Given the description of an element on the screen output the (x, y) to click on. 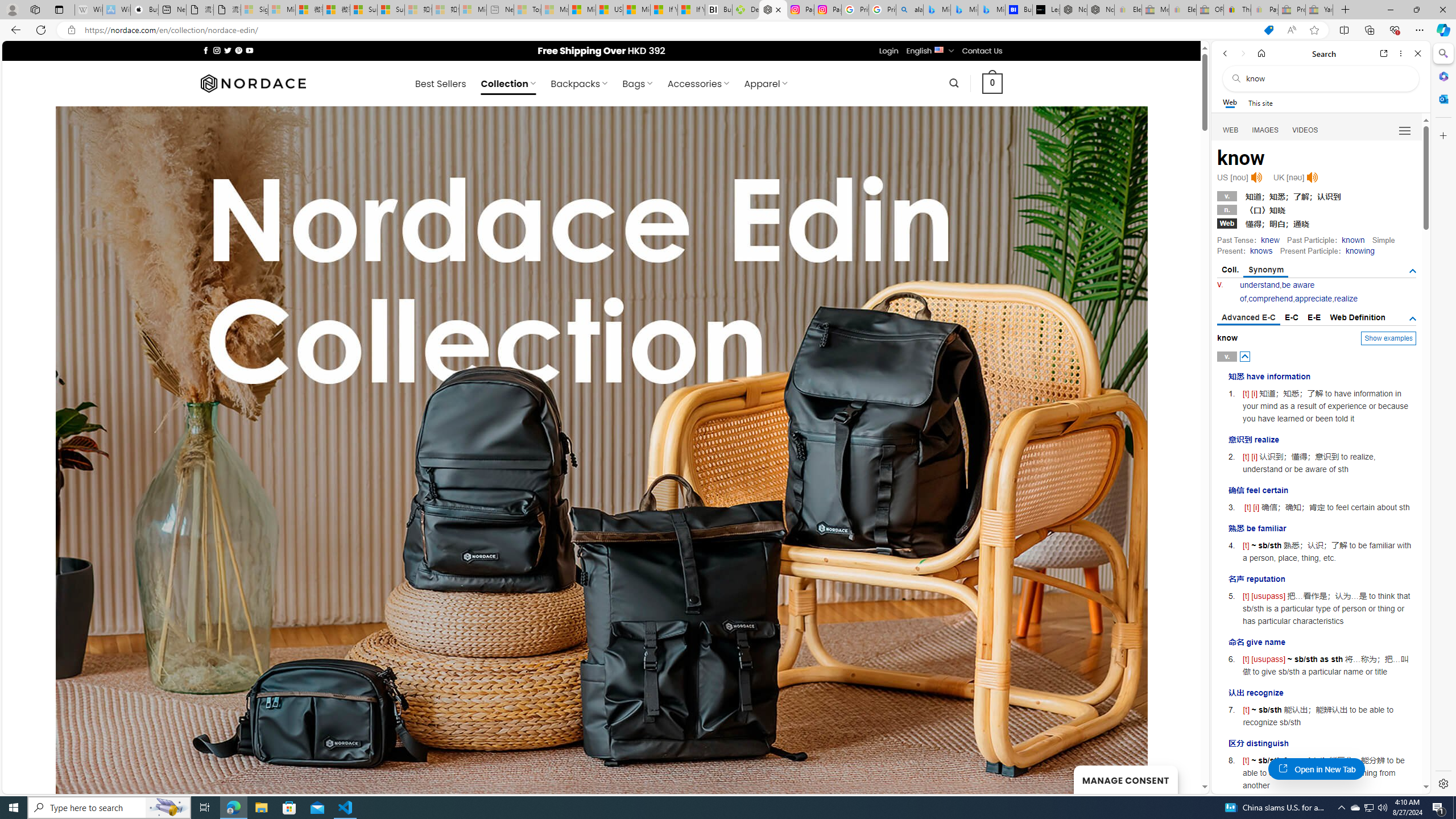
Class: collection-products hover-title product-11 (486, 478)
Top Stories - MSN - Sleeping (527, 9)
Synonym (1265, 270)
be aware of (1277, 291)
  Best Sellers (439, 83)
Press Room - eBay Inc. - Sleeping (1292, 9)
  0   (992, 83)
